Given the description of an element on the screen output the (x, y) to click on. 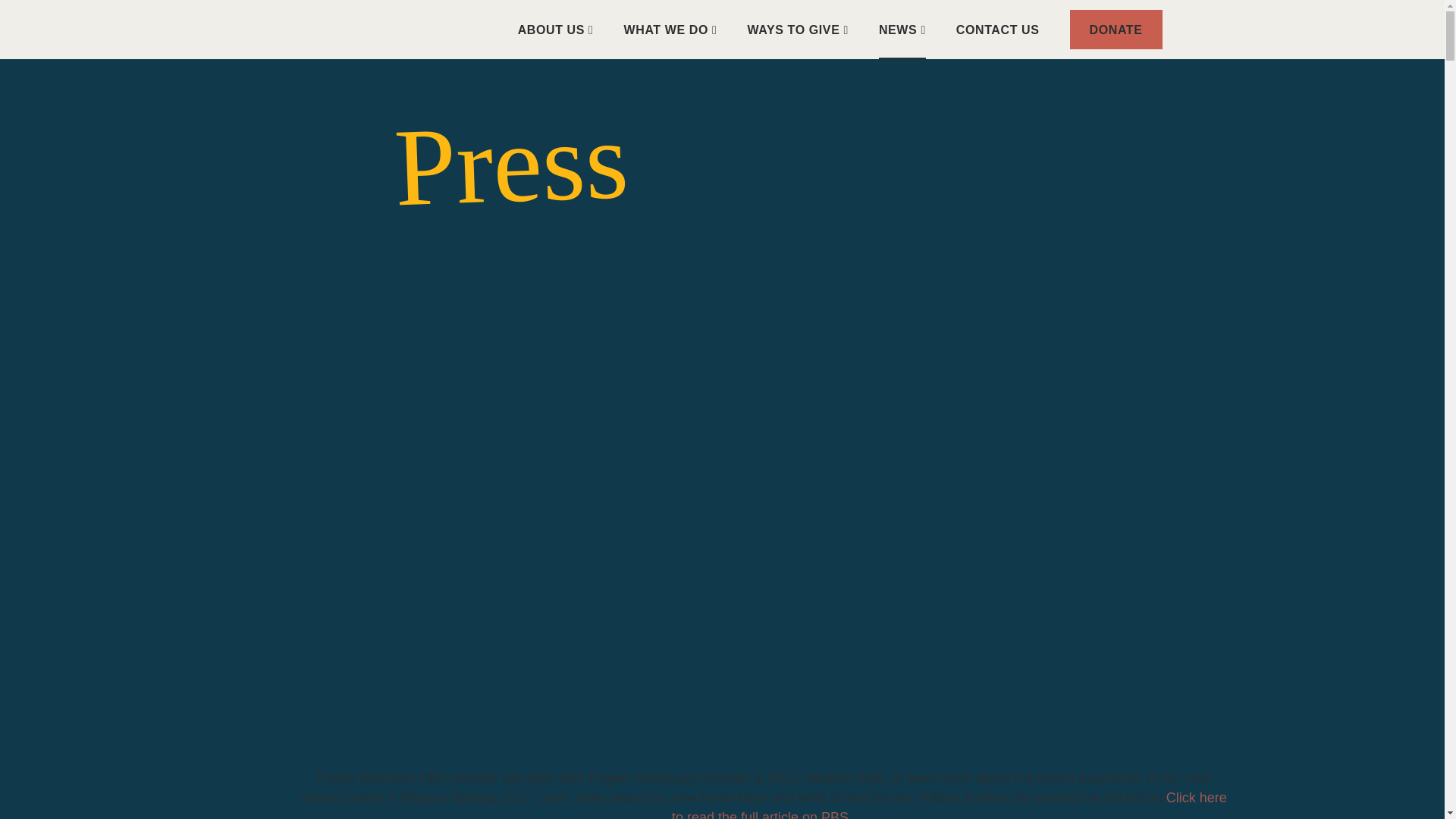
WAYS TO GIVE (798, 29)
ABOUT US (556, 29)
WHAT WE DO (670, 29)
